Given the description of an element on the screen output the (x, y) to click on. 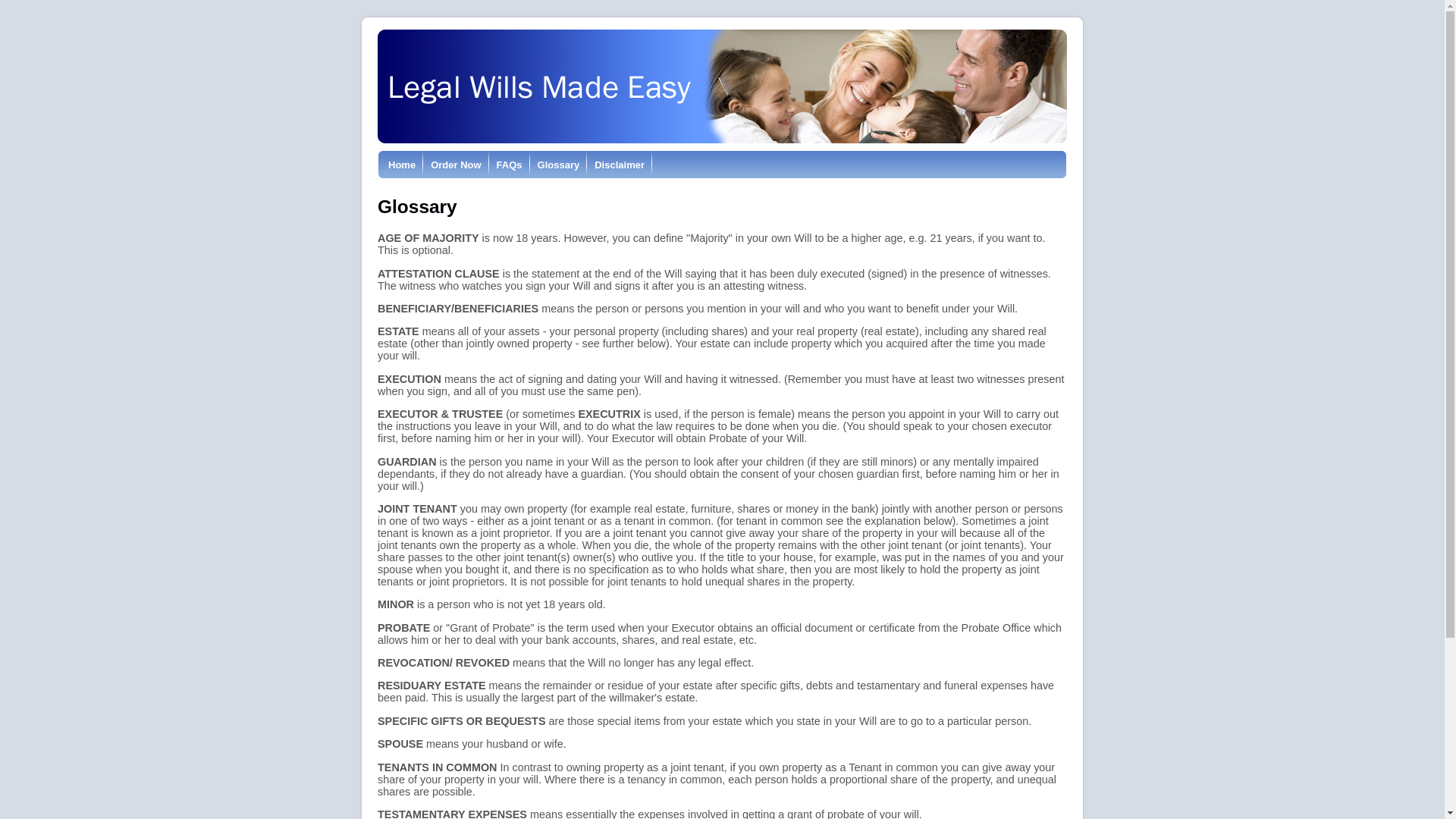
Home Element type: text (401, 164)
Order Now Element type: text (455, 164)
FAQs Element type: text (509, 164)
Legal Wills Made Easy: Home Element type: hover (721, 139)
Disclaimer Element type: text (619, 164)
Legal Wills Made Easy: Home Element type: hover (721, 86)
Glossary Element type: text (558, 164)
